Given the description of an element on the screen output the (x, y) to click on. 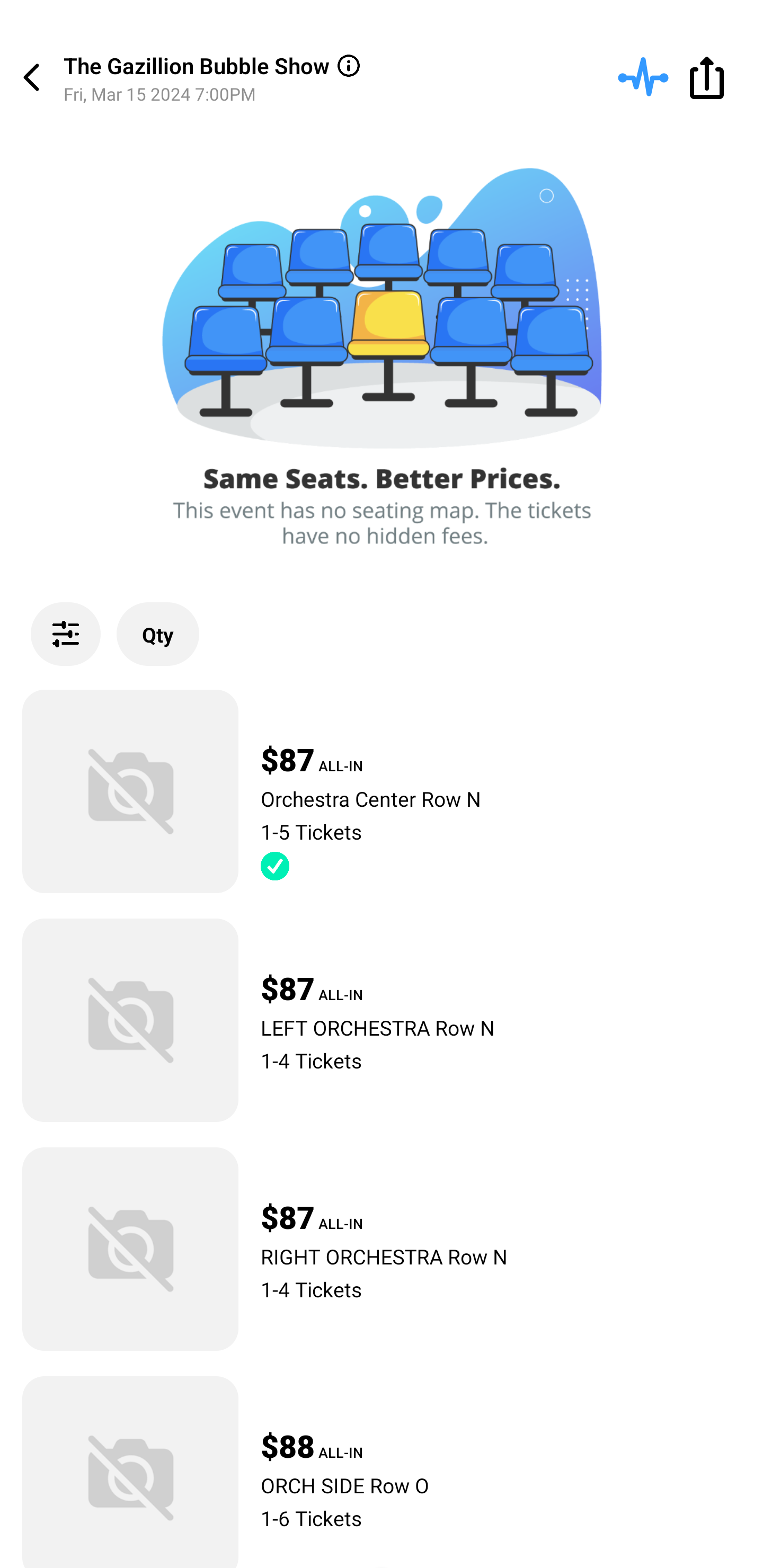
Qty (157, 634)
